Given the description of an element on the screen output the (x, y) to click on. 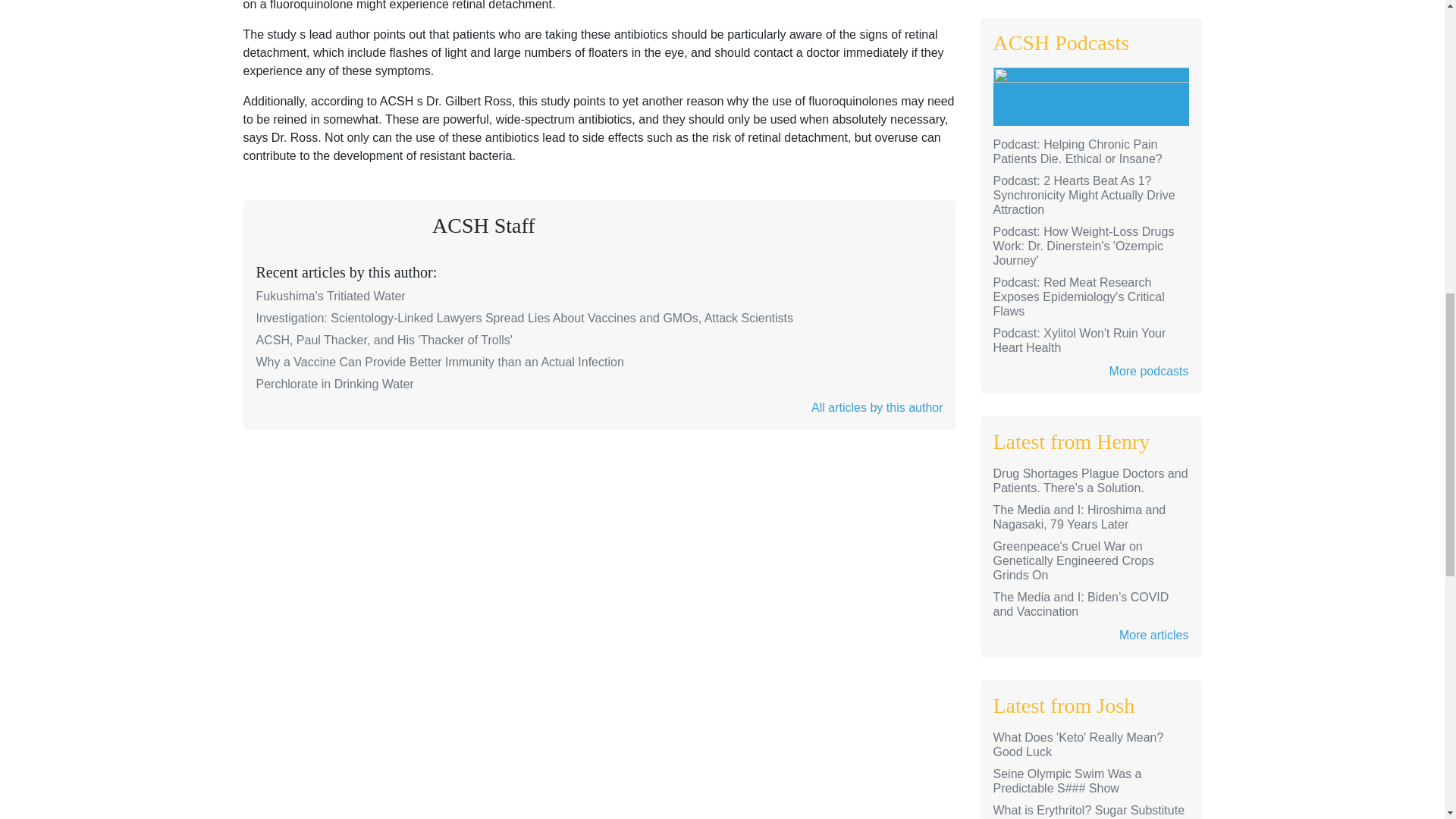
ACSH, Paul Thacker, and His 'Thacker of Trolls' (384, 339)
Fukushima's Tritiated Water (331, 295)
ACSH Staff (483, 225)
